Given the description of an element on the screen output the (x, y) to click on. 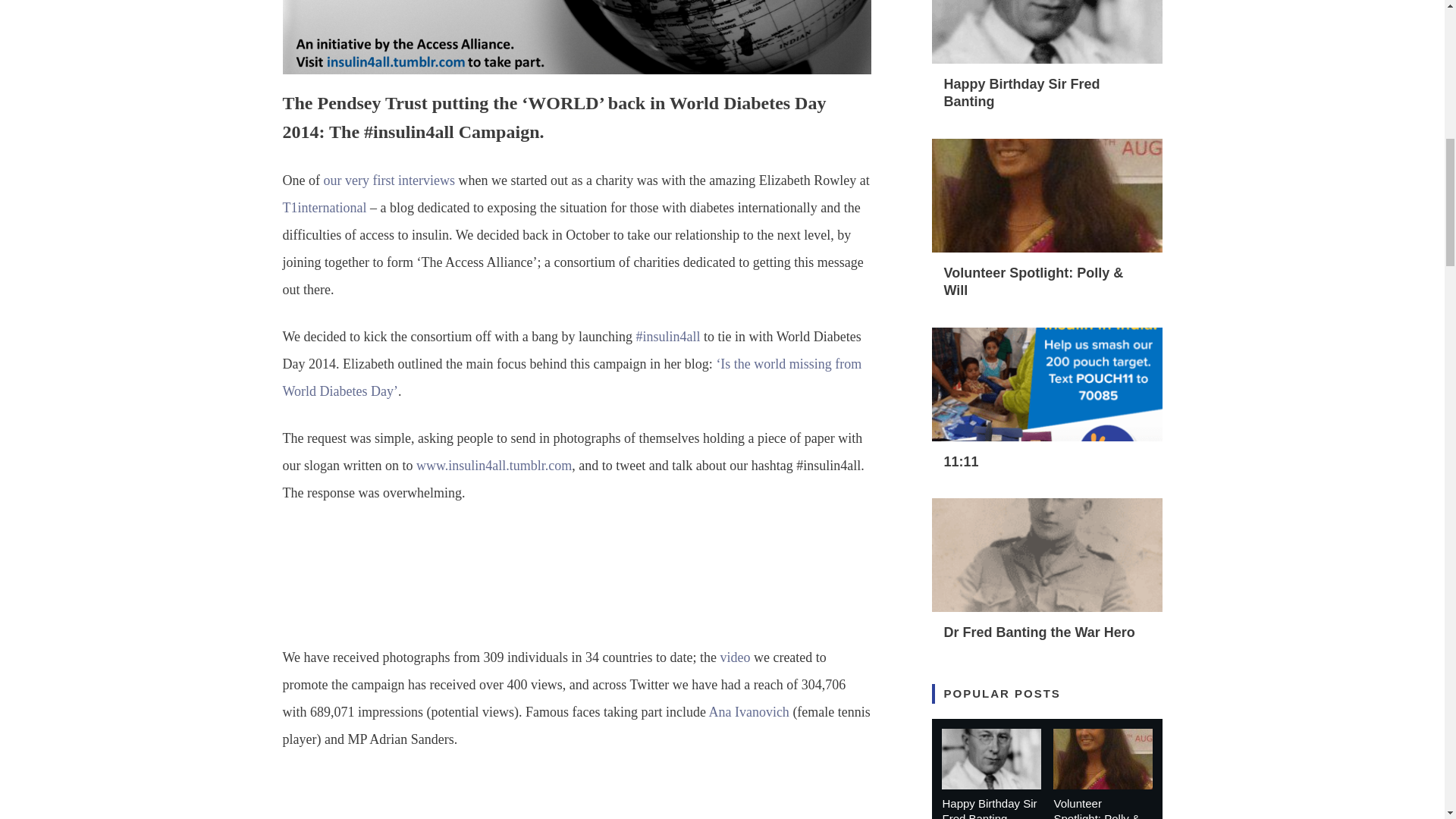
Happy Birthday Sir Fred Banting (1021, 92)
Happy Birthday Sir Fred Banting (989, 807)
www.insulin4all.tumblr.com (494, 465)
our very first interviews (388, 180)
11:11 (960, 461)
T1international (324, 207)
Ana Ivanovich (748, 711)
INTERVIEW: T1 INTERNATIONAL (388, 180)
Dr Fred Banting the War Hero (1038, 631)
video (734, 657)
